Given the description of an element on the screen output the (x, y) to click on. 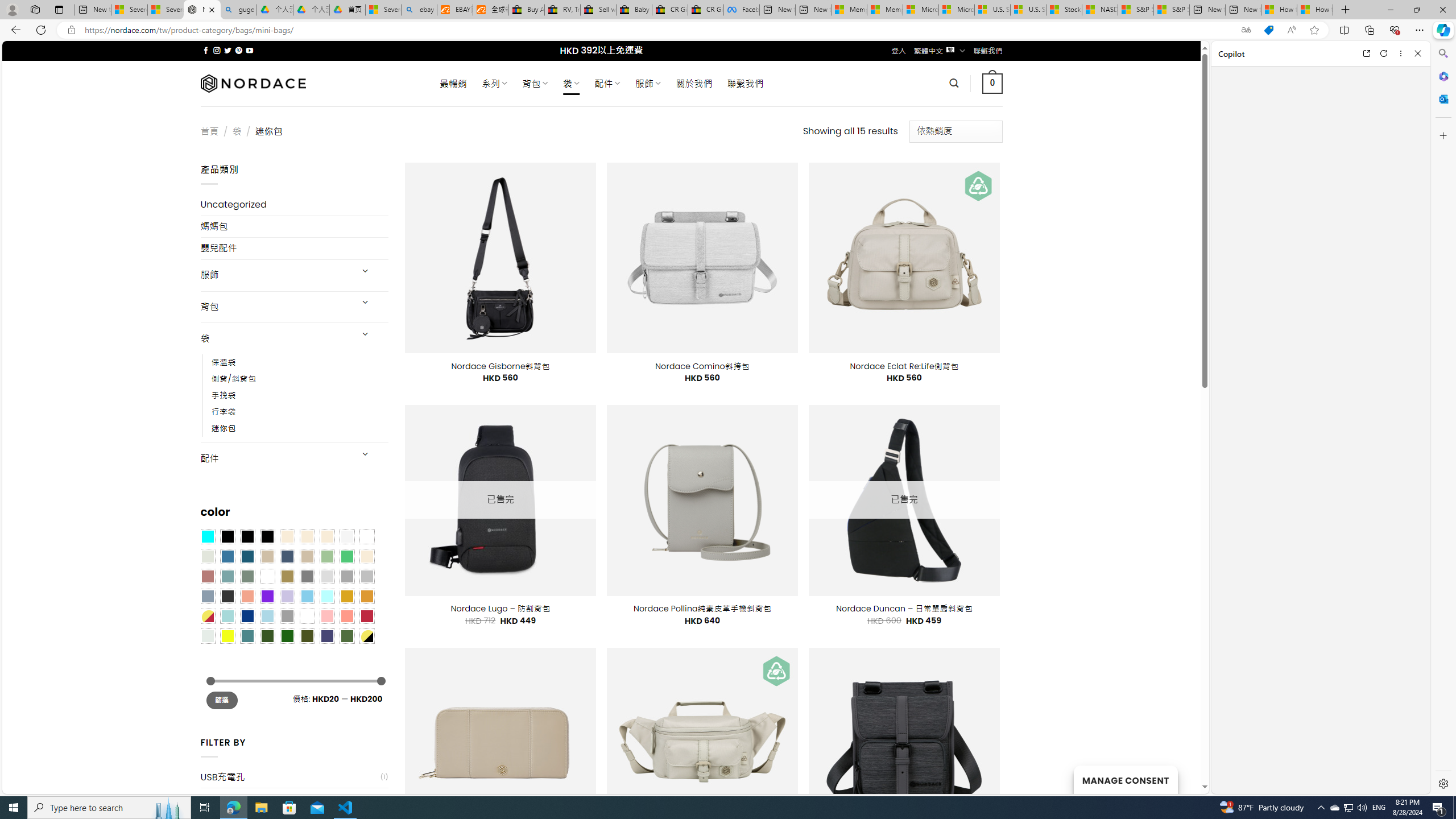
Dull Nickle (207, 635)
